Given the description of an element on the screen output the (x, y) to click on. 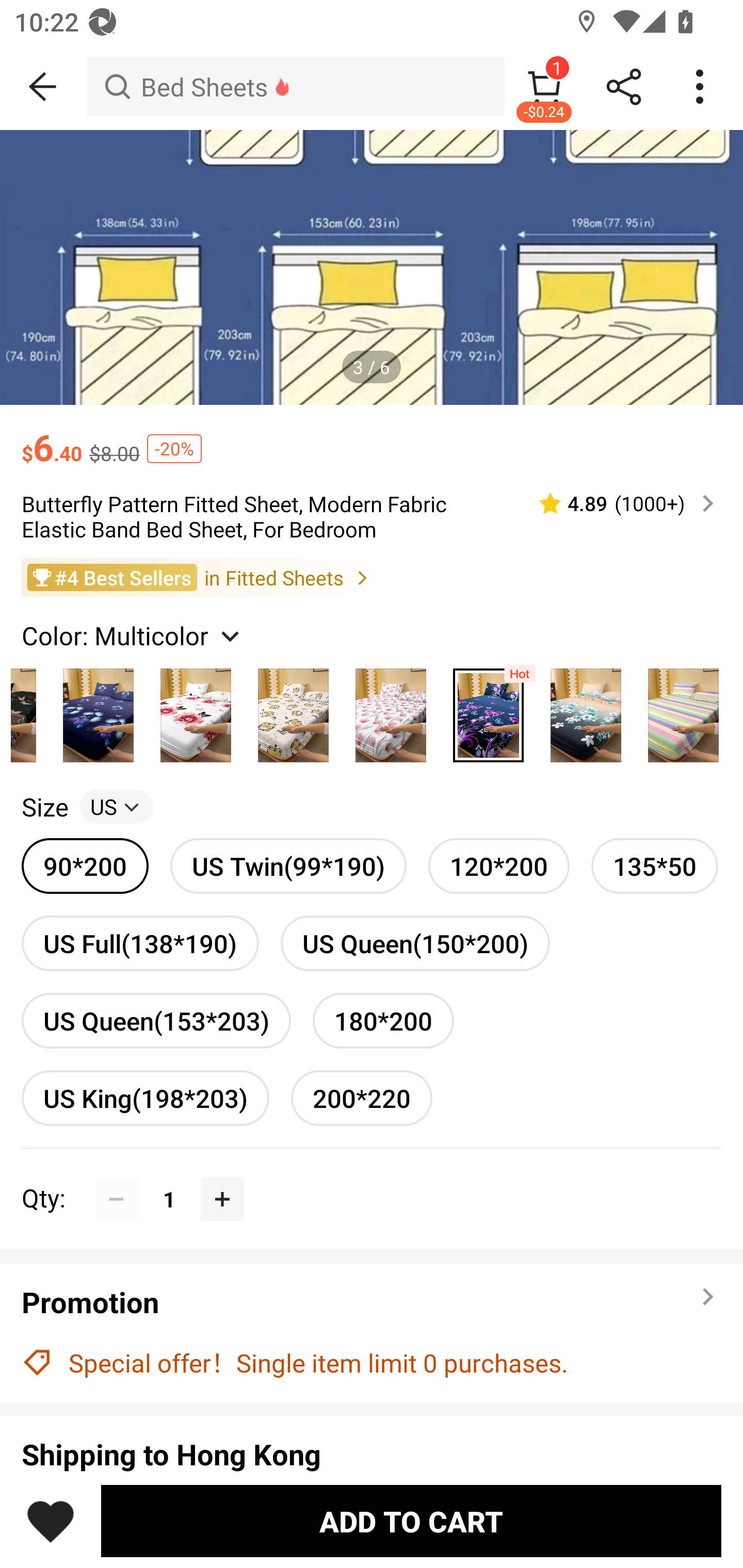
BACK (43, 86)
1 -$0.24 (543, 87)
Bed Sheets (295, 87)
PHOTOS 3 / 6 (371, 267)
3 / 6 (371, 366)
$6.40 $8.00 -20% (371, 437)
4.89 (1000‎+) (617, 503)
#4 Best Sellers in Fitted Sheets (371, 577)
Color: Multicolor (132, 634)
Multicolor (98, 710)
Multicolor (195, 710)
Multicolor (292, 710)
Multicolor (390, 710)
Multicolor (488, 710)
Multicolor (585, 710)
Multicolor (682, 710)
Size (44, 806)
US (116, 806)
90*200 90*200selected option (84, 865)
US Twin(99*190) US Twin(99*190)unselected option (288, 865)
120*200 120*200unselected option (498, 865)
135*50 135*50unselected option (654, 865)
US Full(138*190) US Full(138*190)unselected option (140, 942)
180*200 180*200unselected option (382, 1020)
US King(198*203) US King(198*203)unselected option (144, 1097)
200*220 200*220unselected option (361, 1097)
Qty: 1 (371, 1177)
Shipping to Hong Kong (371, 1453)
ADD TO CART (411, 1520)
Saved (50, 1520)
